Given the description of an element on the screen output the (x, y) to click on. 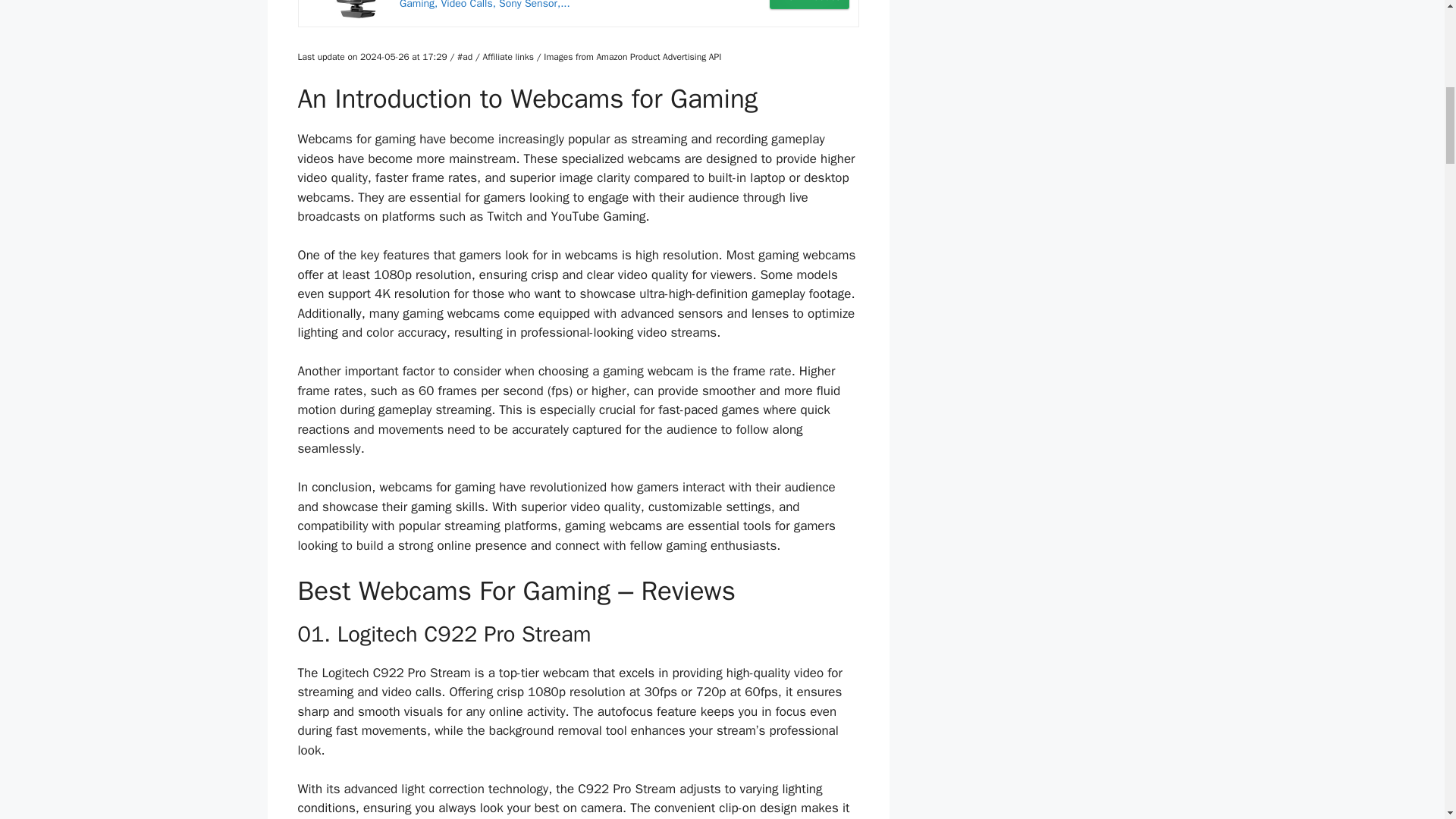
View Product (809, 4)
